Given the description of an element on the screen output the (x, y) to click on. 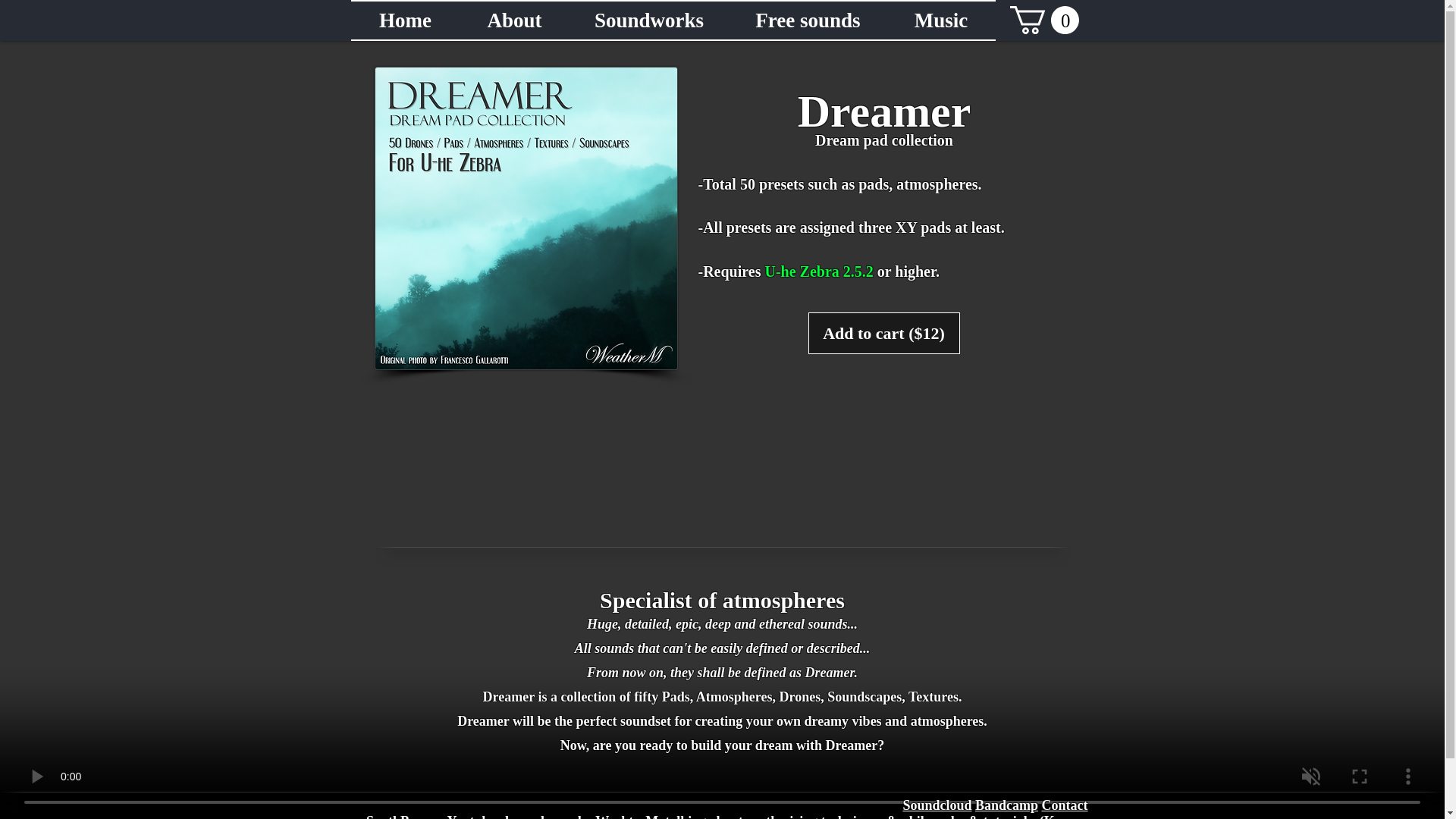
Soundworks (649, 20)
SynthBrew (398, 816)
Contact (1064, 805)
0 (1044, 19)
About (514, 20)
Soundcloud (936, 805)
Music (940, 20)
Bandcamp (1006, 805)
Embedded Content (722, 453)
0 (1044, 19)
Home (405, 20)
Free sounds (807, 20)
